Given the description of an element on the screen output the (x, y) to click on. 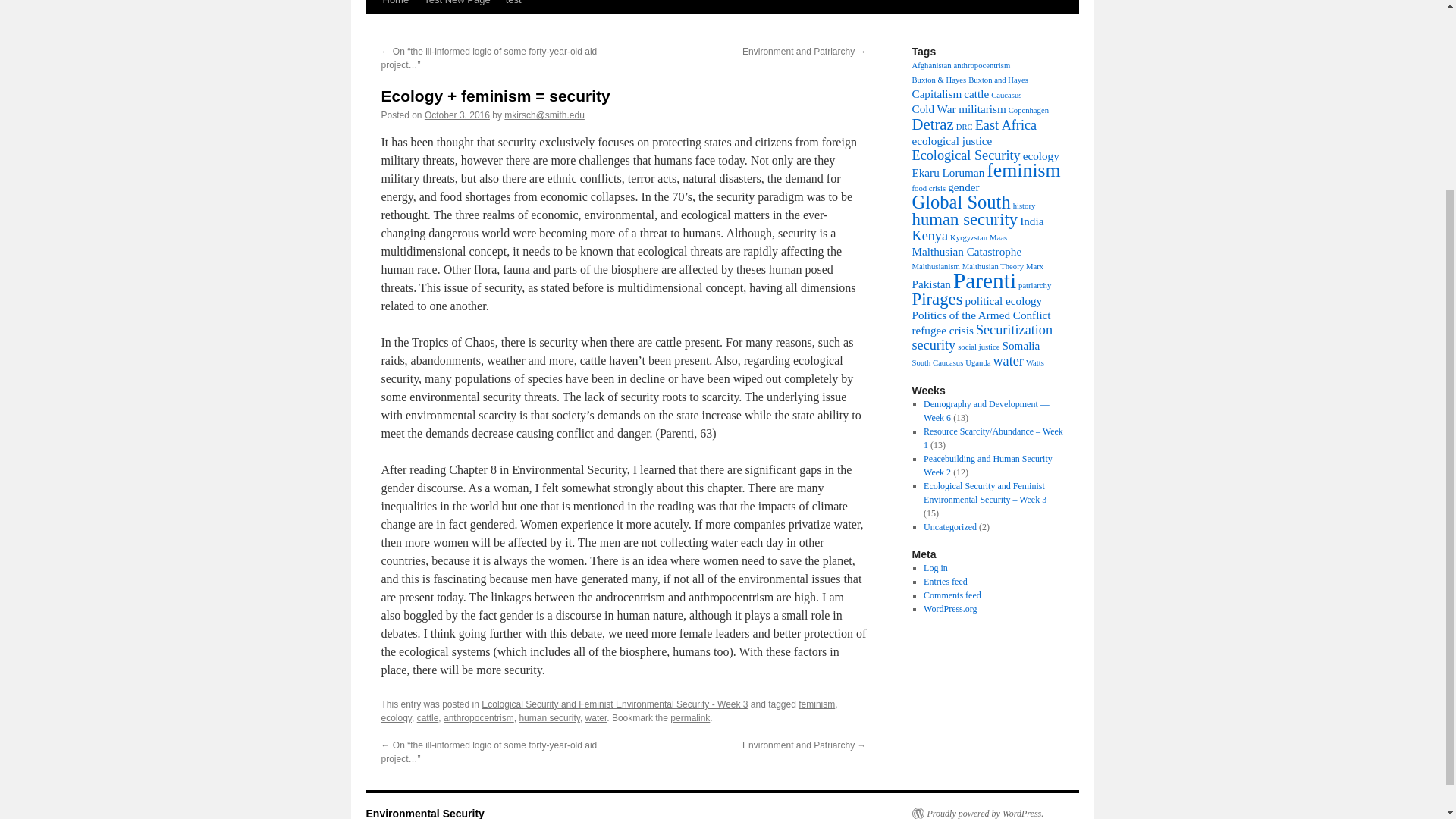
anthropocentrism (478, 717)
Caucasus (1006, 94)
cattle (975, 92)
Afghanistan (930, 65)
Detraz (932, 124)
ecology (1041, 155)
ecological justice (951, 140)
gender (962, 186)
food crisis (927, 188)
Copenhagen (1028, 110)
DRC (964, 126)
permalink (689, 717)
6:20 pm (457, 114)
human security (548, 717)
Ecological Security (965, 155)
